Given the description of an element on the screen output the (x, y) to click on. 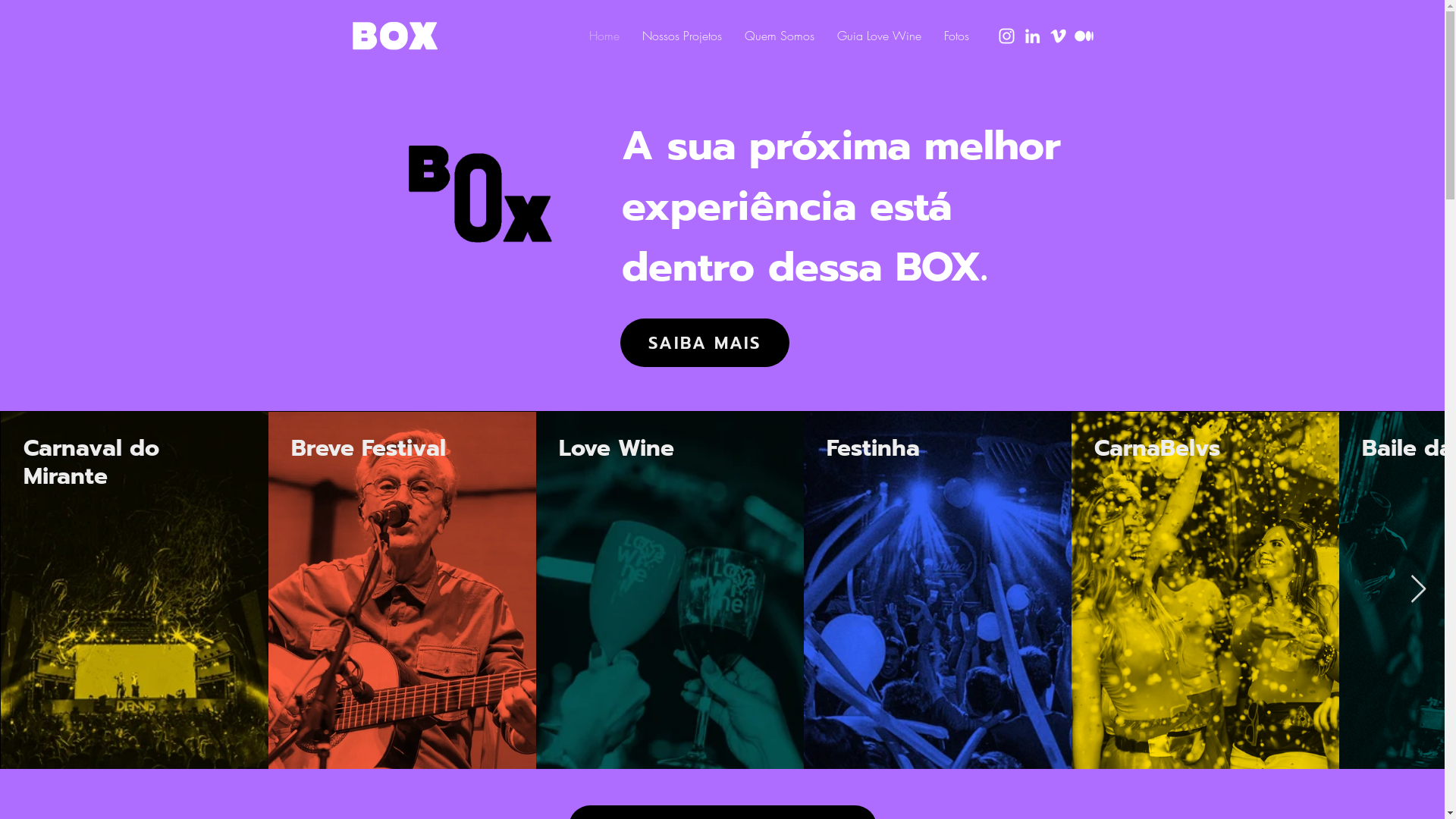
Fotos Element type: text (956, 35)
SAIBA MAIS Element type: text (704, 342)
Home Element type: text (603, 35)
Quem Somos Element type: text (778, 35)
Nossos Projetos Element type: text (681, 35)
Guia Love Wine Element type: text (878, 35)
